Given the description of an element on the screen output the (x, y) to click on. 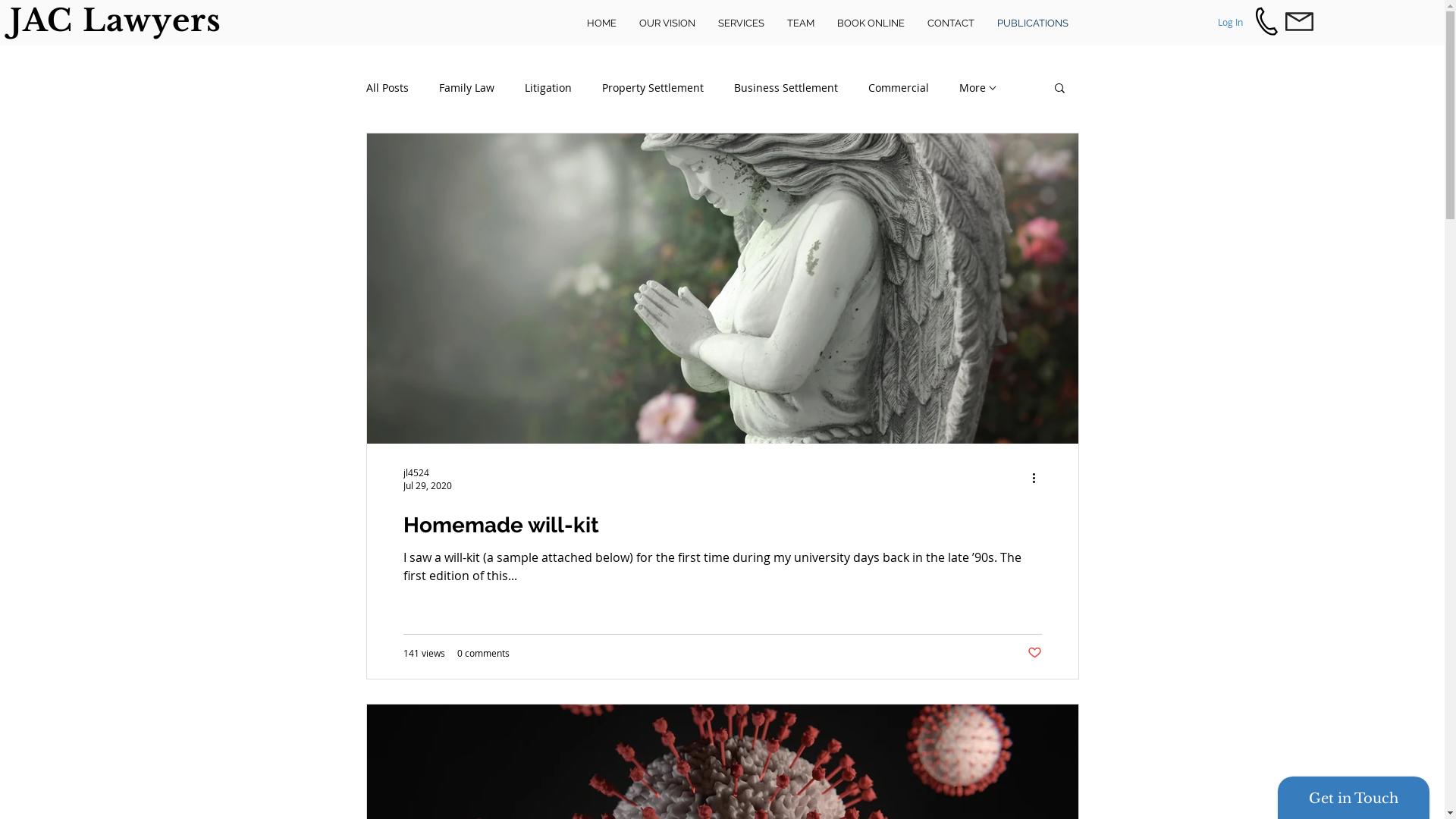
JAC Lawyers Element type: text (115, 20)
BOOK ONLINE Element type: text (870, 23)
0 comments Element type: text (482, 652)
Property Settlement Element type: text (652, 87)
Family Law Element type: text (465, 87)
All Posts Element type: text (386, 87)
SERVICES Element type: text (740, 23)
Homemade will-kit Element type: text (722, 524)
jl4524 Element type: text (427, 471)
TEAM Element type: text (800, 23)
HOME Element type: text (601, 23)
CONTACT Element type: text (950, 23)
Litigation Element type: text (547, 87)
PUBLICATIONS Element type: text (1032, 23)
Business Settlement Element type: text (785, 87)
Commercial Element type: text (897, 87)
OUR VISION Element type: text (666, 23)
Log In Element type: text (1230, 22)
Post not marked as liked Element type: text (1033, 652)
